Given the description of an element on the screen output the (x, y) to click on. 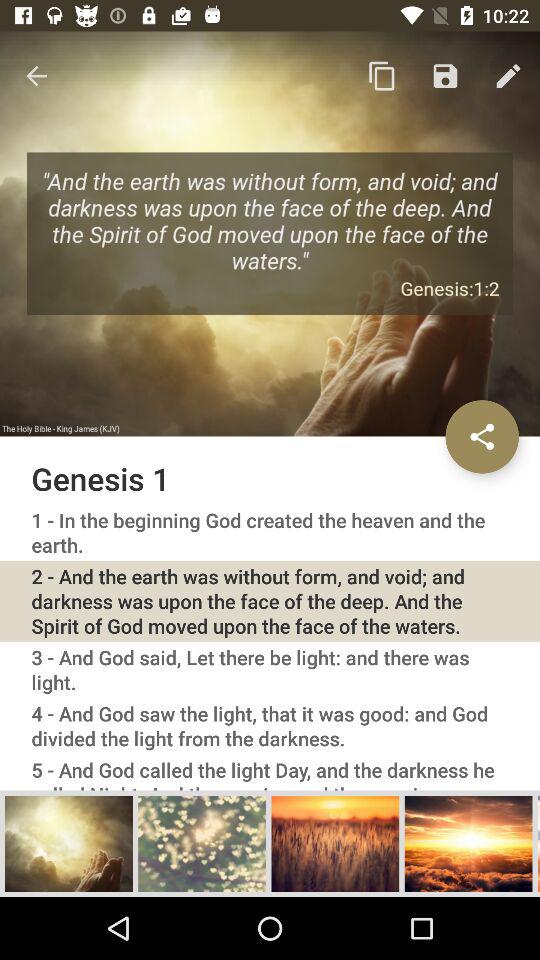
share (482, 436)
